Given the description of an element on the screen output the (x, y) to click on. 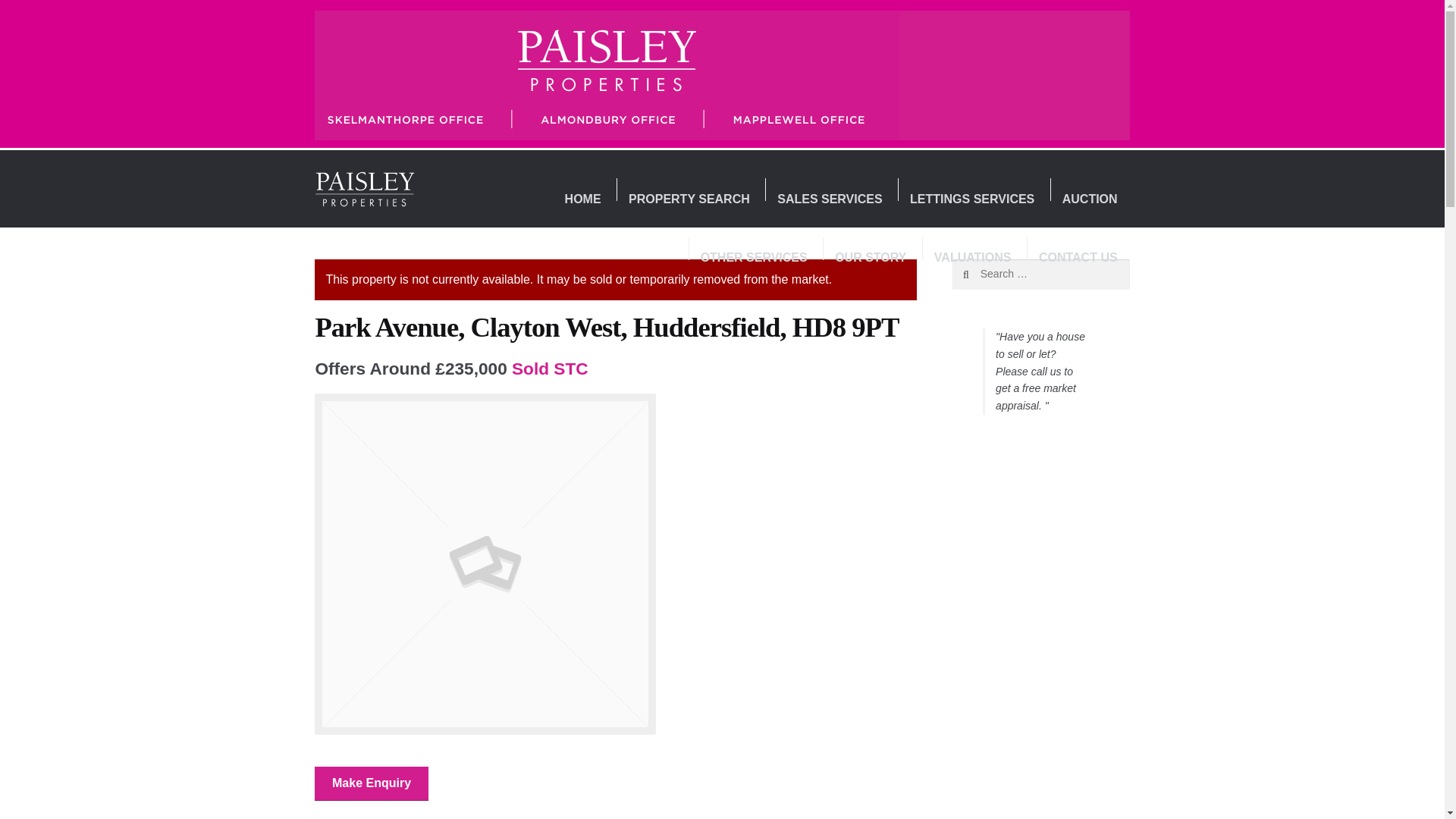
Search (984, 274)
Skip to content (358, 179)
VALUATIONS (972, 258)
CONTACT US (1077, 258)
Skip to navigation (366, 179)
OUR STORY (870, 258)
Search (984, 274)
PROPERTY SEARCH (688, 199)
LETTINGS SERVICES (972, 199)
AUCTION (1089, 199)
OTHER SERVICES (753, 258)
Search (984, 274)
SALES SERVICES (829, 199)
HOME (582, 199)
Make Enquiry (371, 783)
